Given the description of an element on the screen output the (x, y) to click on. 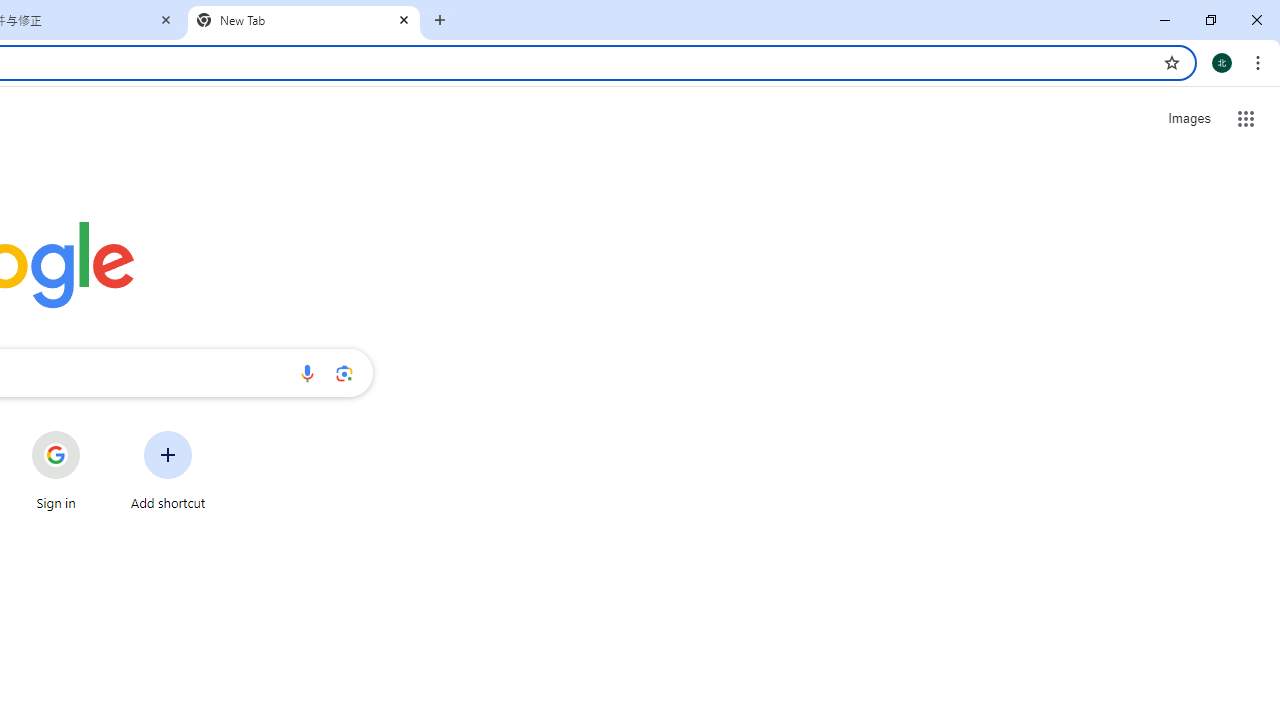
Add shortcut (168, 470)
Meet, row 2 of 5 and column 3 of 3 in the first section (1186, 325)
Account, row 1 of 5 and column 1 of 3 in the first section (994, 229)
Photos, row 5 of 5 and column 1 of 3 in the first section (994, 613)
